Given the description of an element on the screen output the (x, y) to click on. 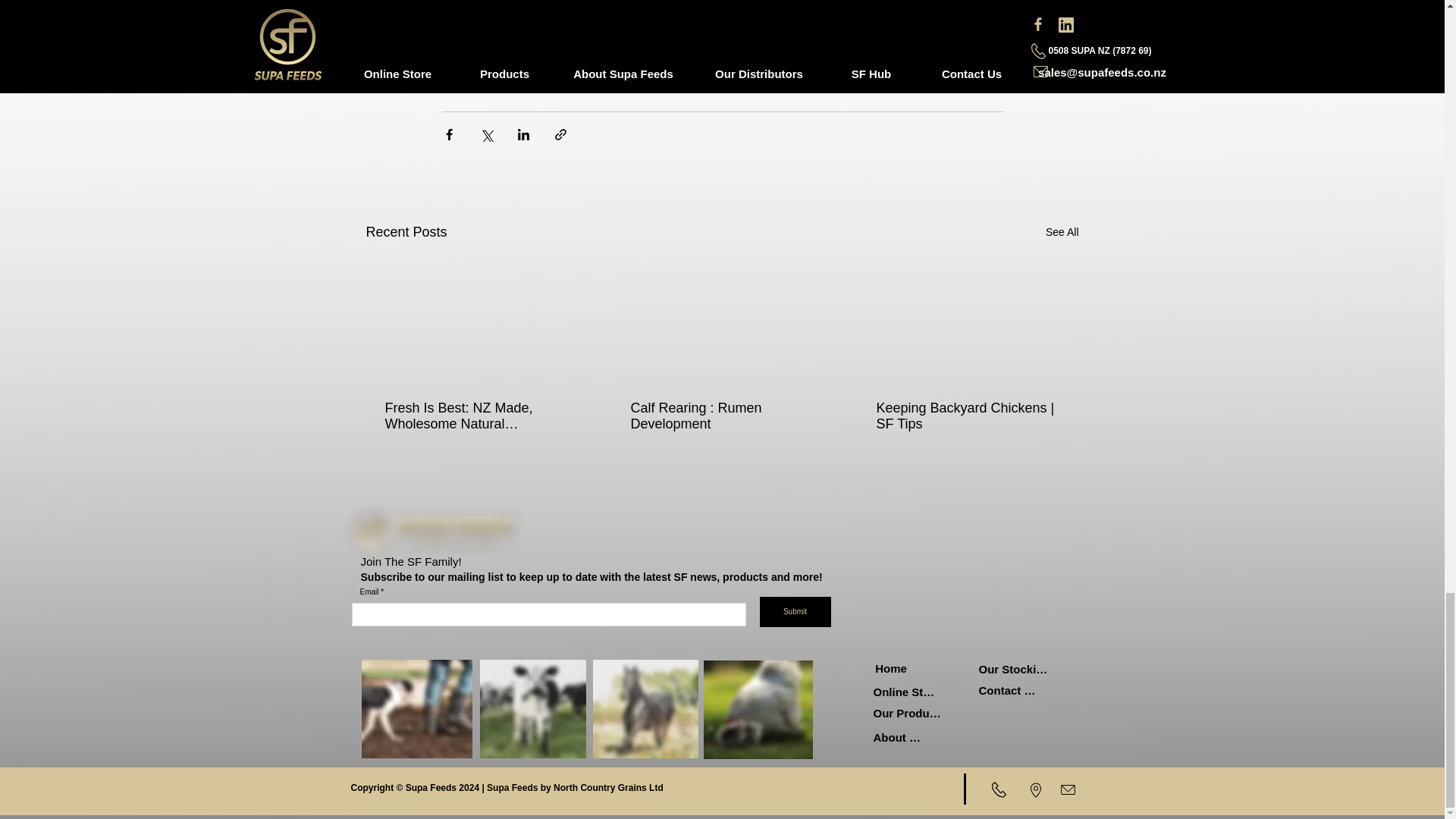
Calf Rearing : Rumen Development (721, 416)
See All (1061, 232)
